Given the description of an element on the screen output the (x, y) to click on. 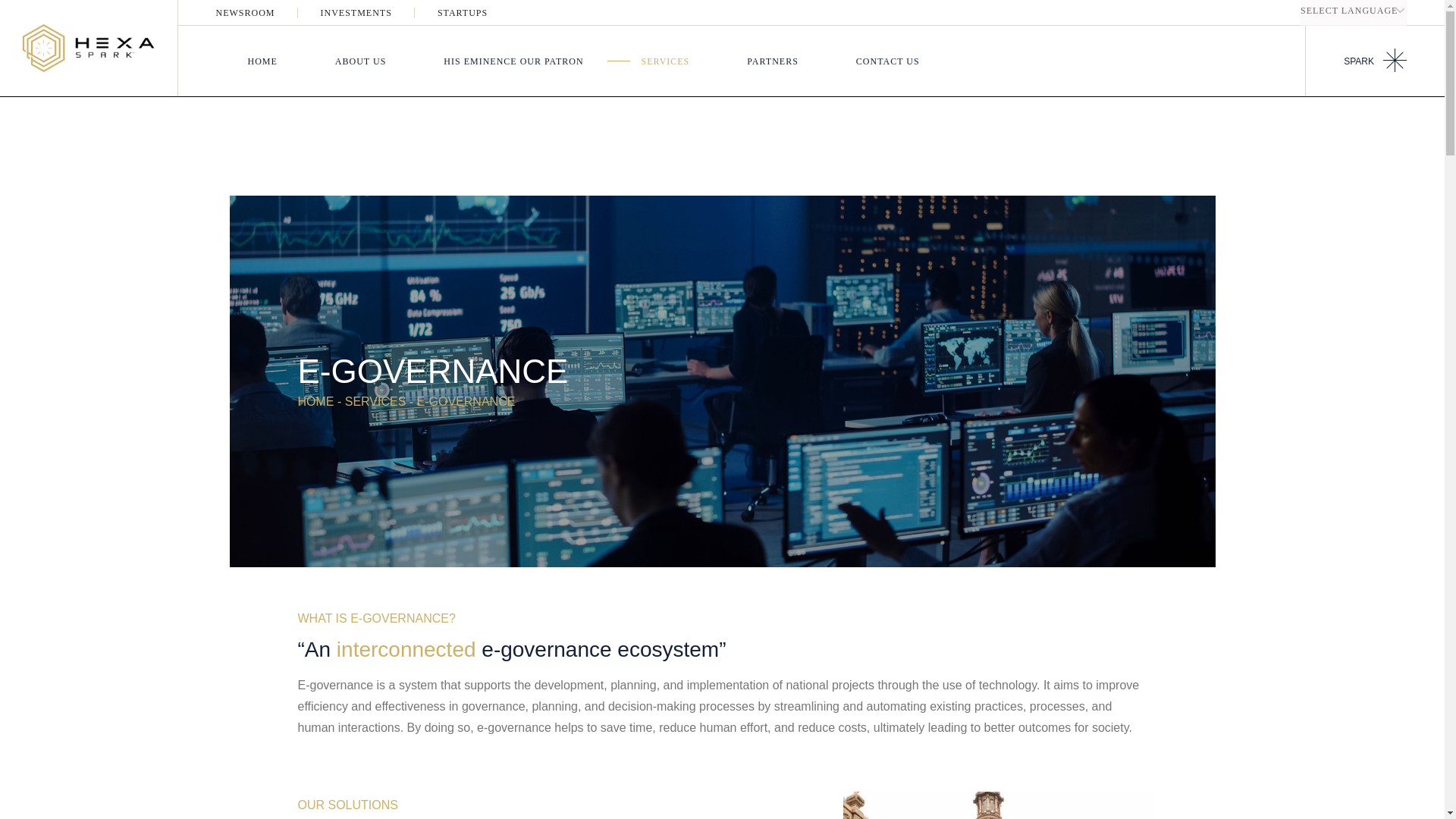
NEWSROOM (245, 12)
SPARK (1374, 60)
CONTACT US (887, 60)
HIS EMINENCE OUR PATRON (512, 60)
